Given the description of an element on the screen output the (x, y) to click on. 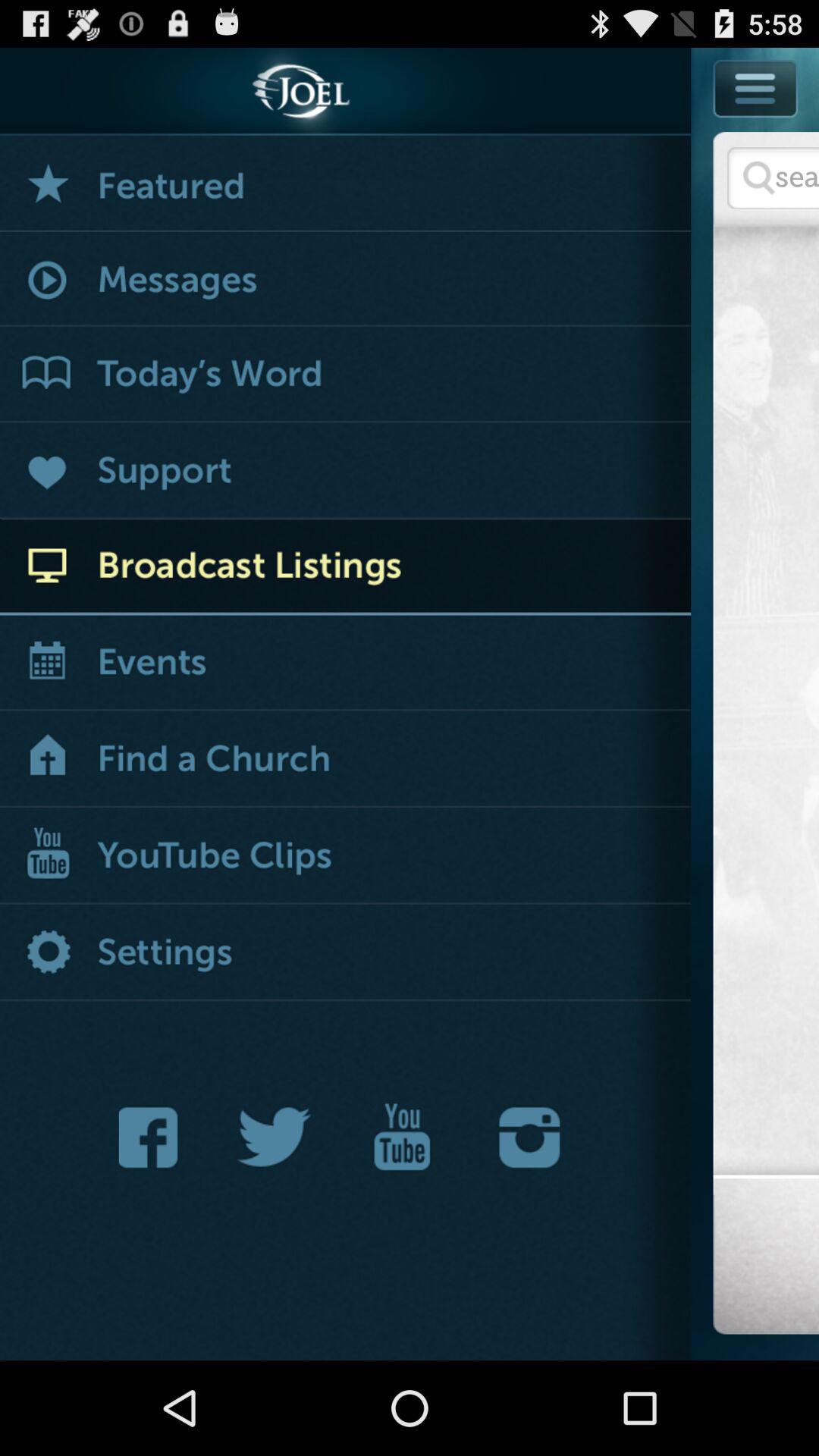
search (773, 177)
